Given the description of an element on the screen output the (x, y) to click on. 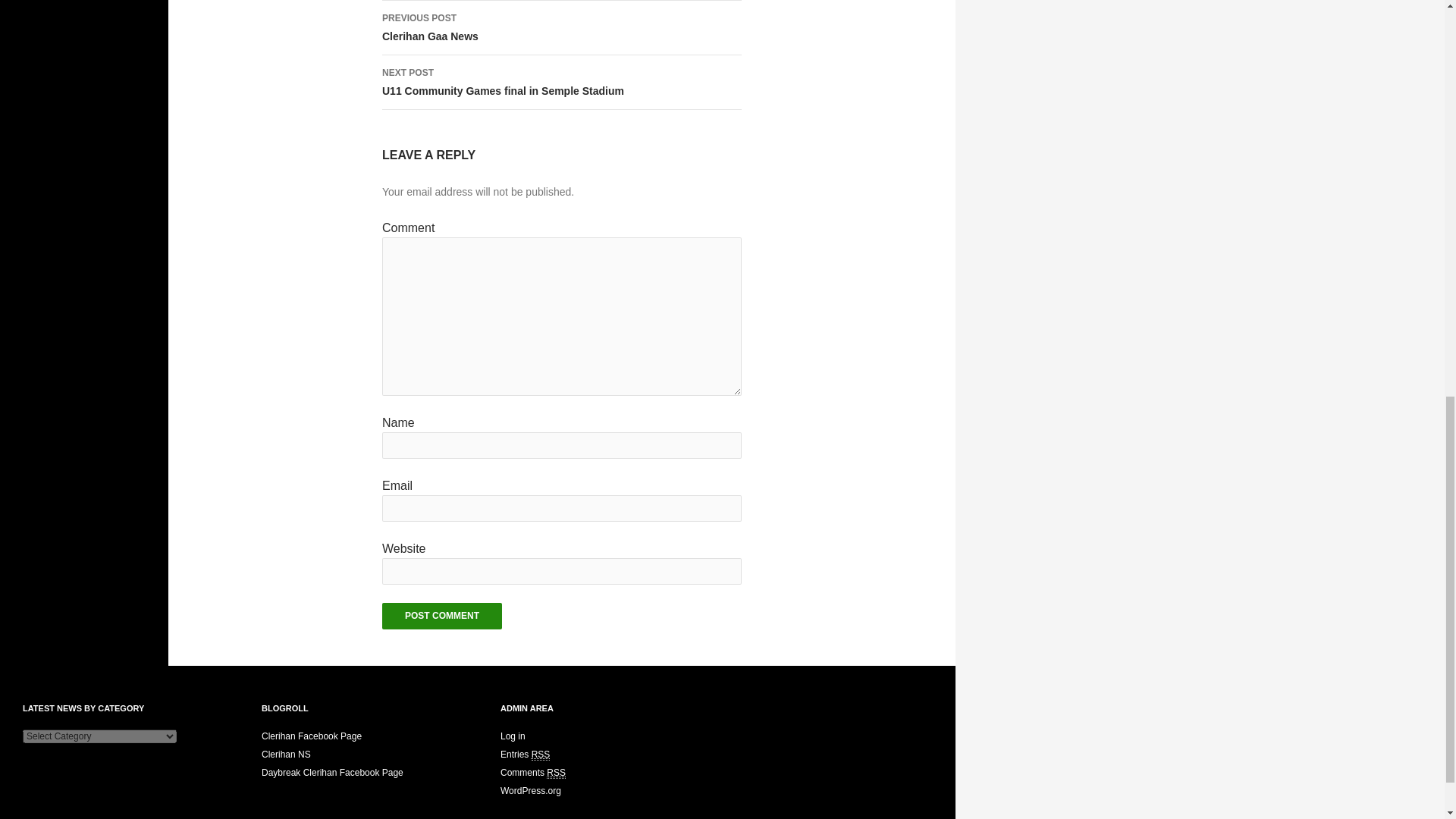
Post Comment (561, 82)
Really Simple Syndication (441, 615)
Post Comment (540, 754)
Clerihan Primary School (441, 615)
